Given the description of an element on the screen output the (x, y) to click on. 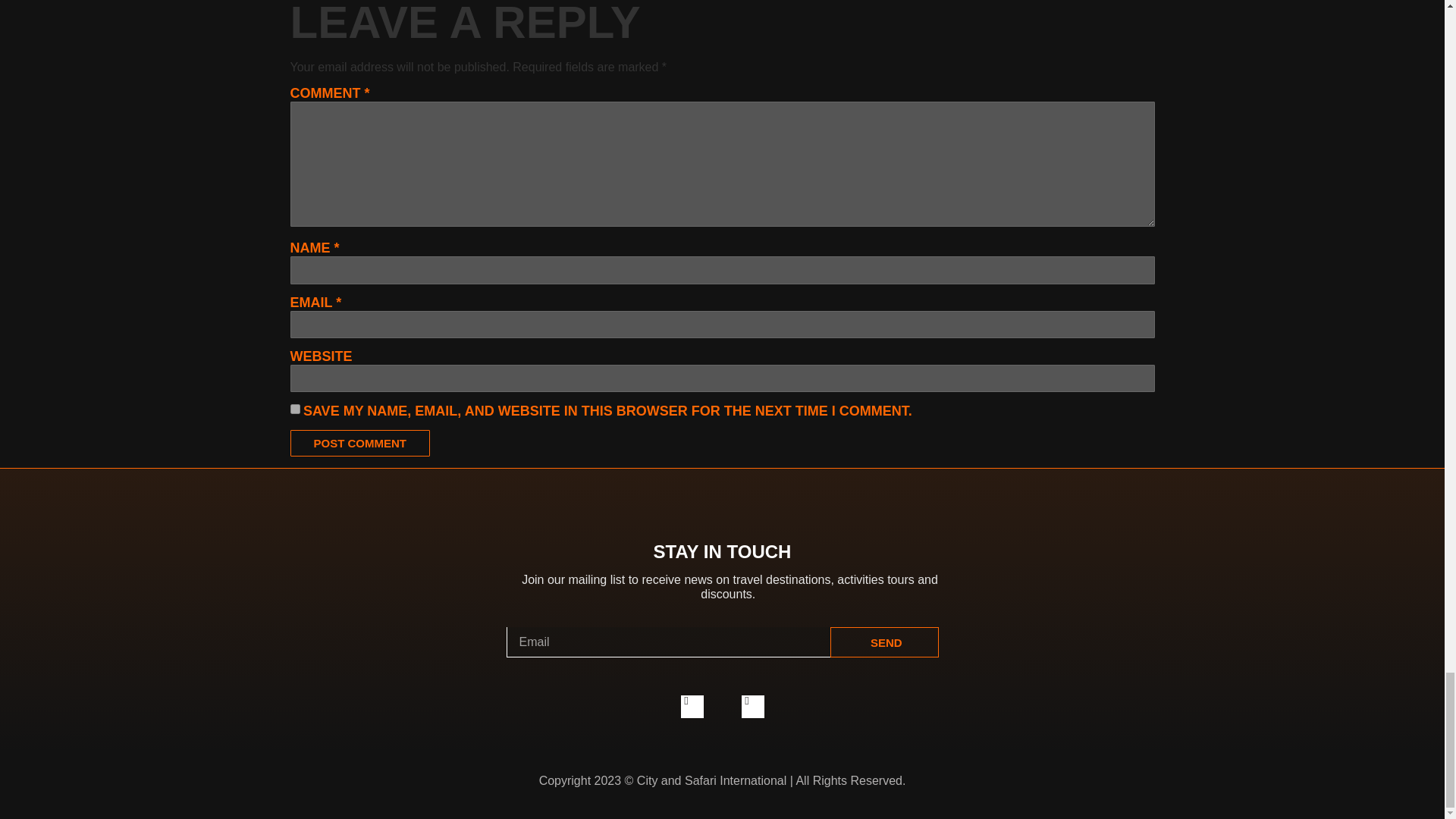
Post Comment (359, 442)
yes (294, 409)
Post Comment (359, 442)
SEND (884, 642)
